Given the description of an element on the screen output the (x, y) to click on. 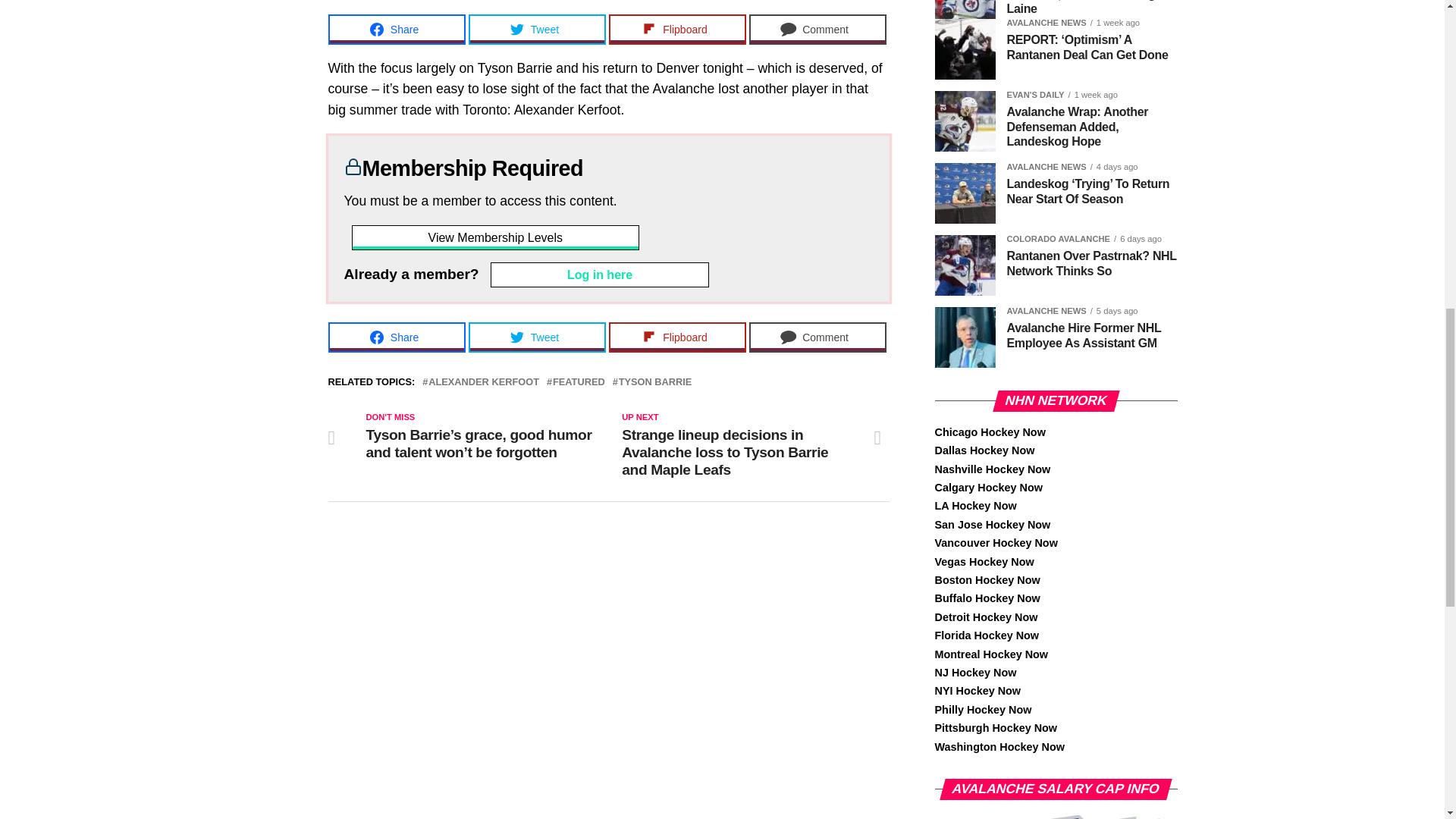
Share on Flipboard (676, 29)
Share on Comment (817, 29)
Share on Tweet (536, 337)
Share on Share (395, 29)
Share on Comment (817, 337)
Share on Share (395, 337)
Share on Flipboard (676, 337)
Share on Tweet (536, 29)
